Given the description of an element on the screen output the (x, y) to click on. 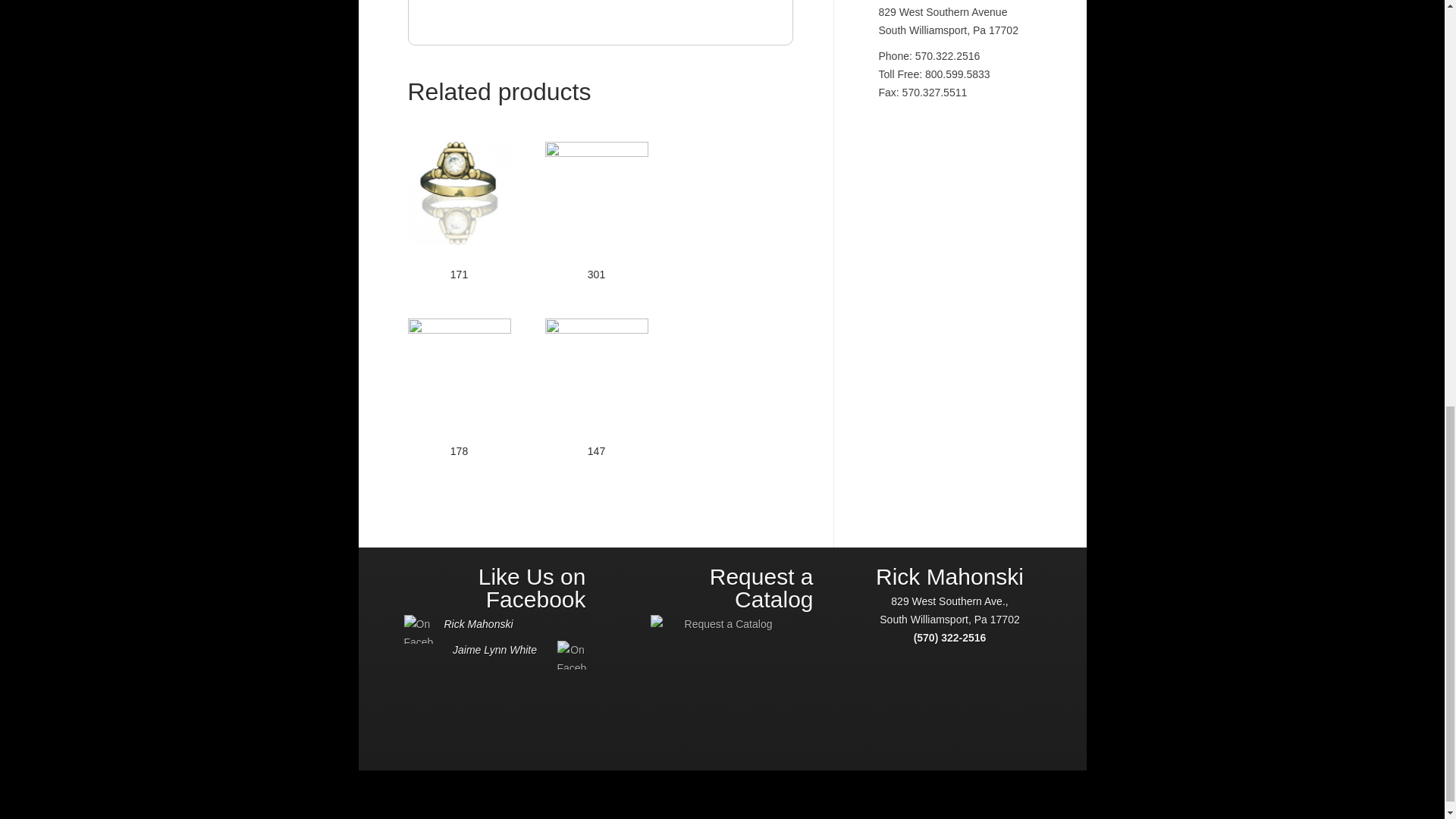
Like Us on Facebook (532, 587)
Request a Catalog (721, 671)
Request a Catalogs (721, 671)
Request a Catalog (761, 587)
